Given the description of an element on the screen output the (x, y) to click on. 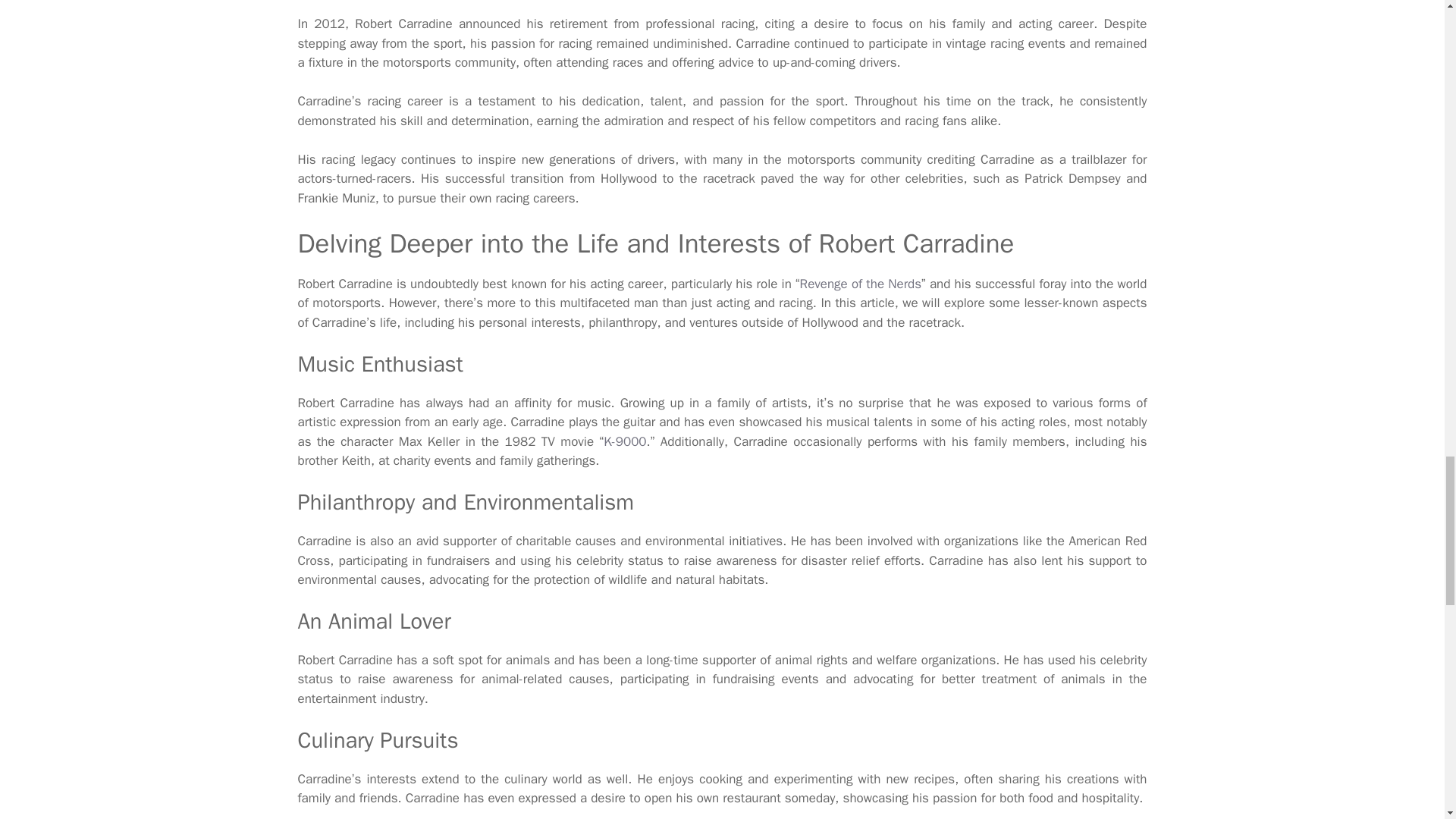
Revenge of the Nerds (860, 283)
K-9000 (625, 441)
